Given the description of an element on the screen output the (x, y) to click on. 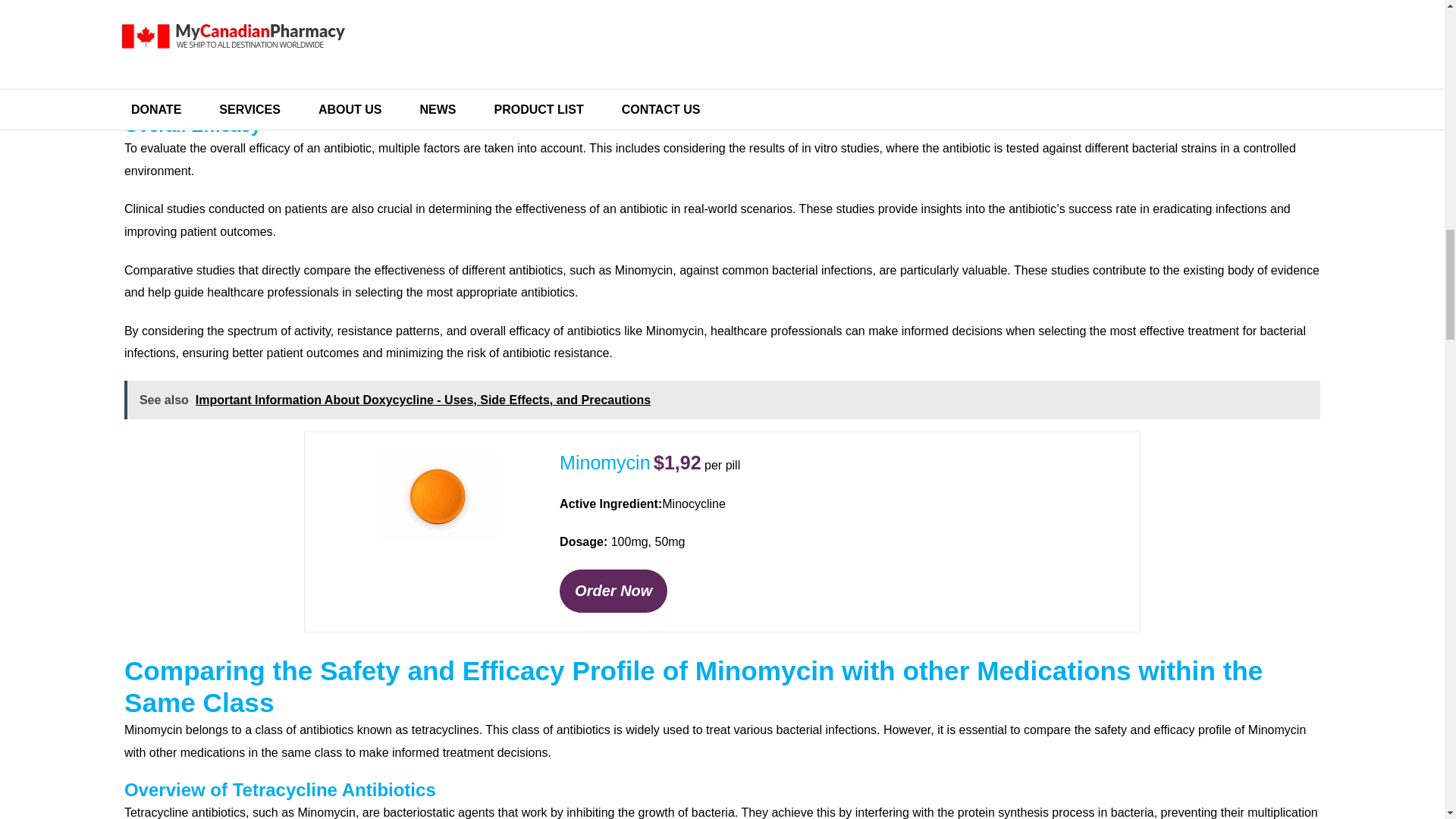
Order Now (612, 590)
